Given the description of an element on the screen output the (x, y) to click on. 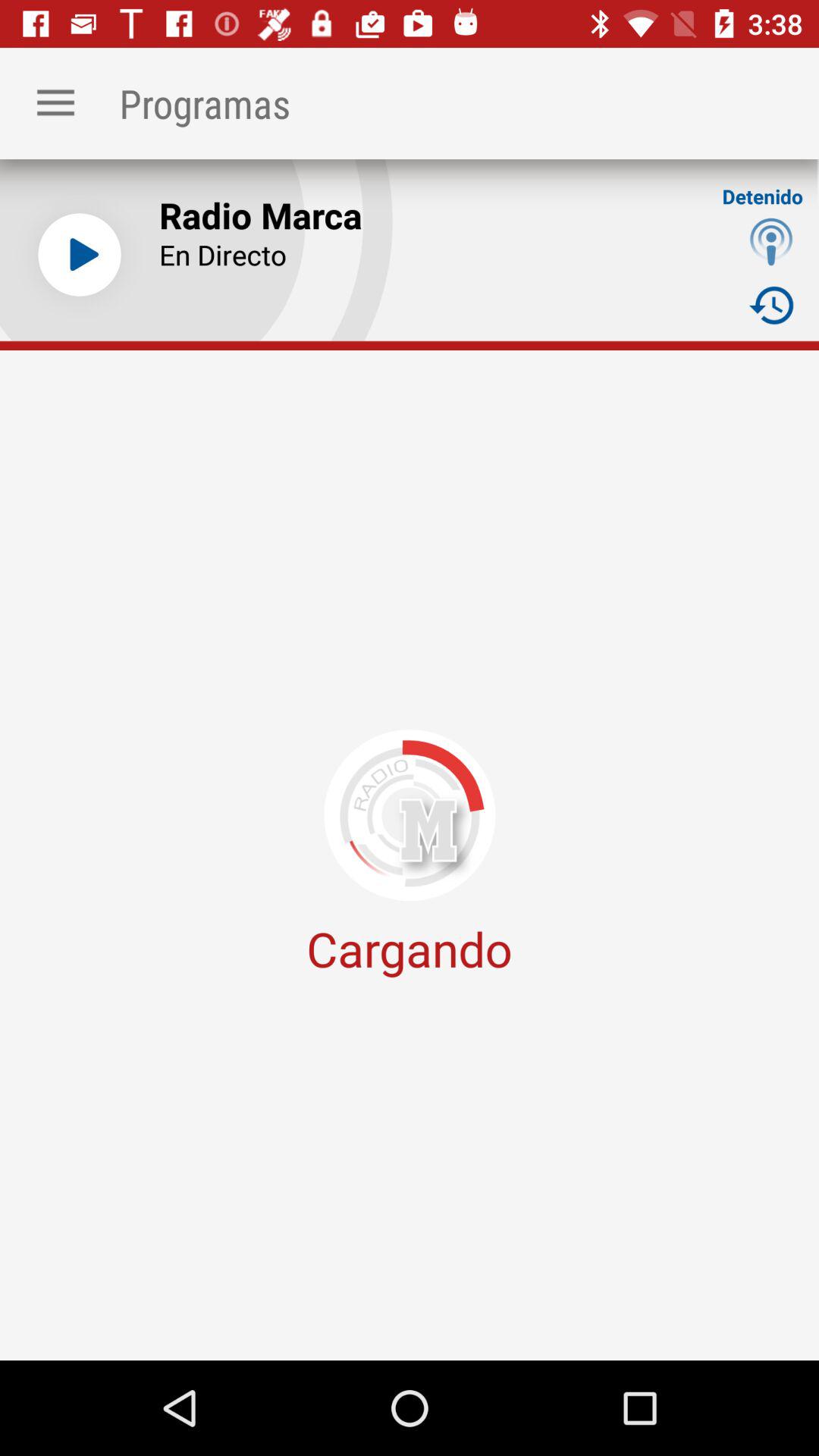
press the item to the right of en directo item (771, 241)
